Given the description of an element on the screen output the (x, y) to click on. 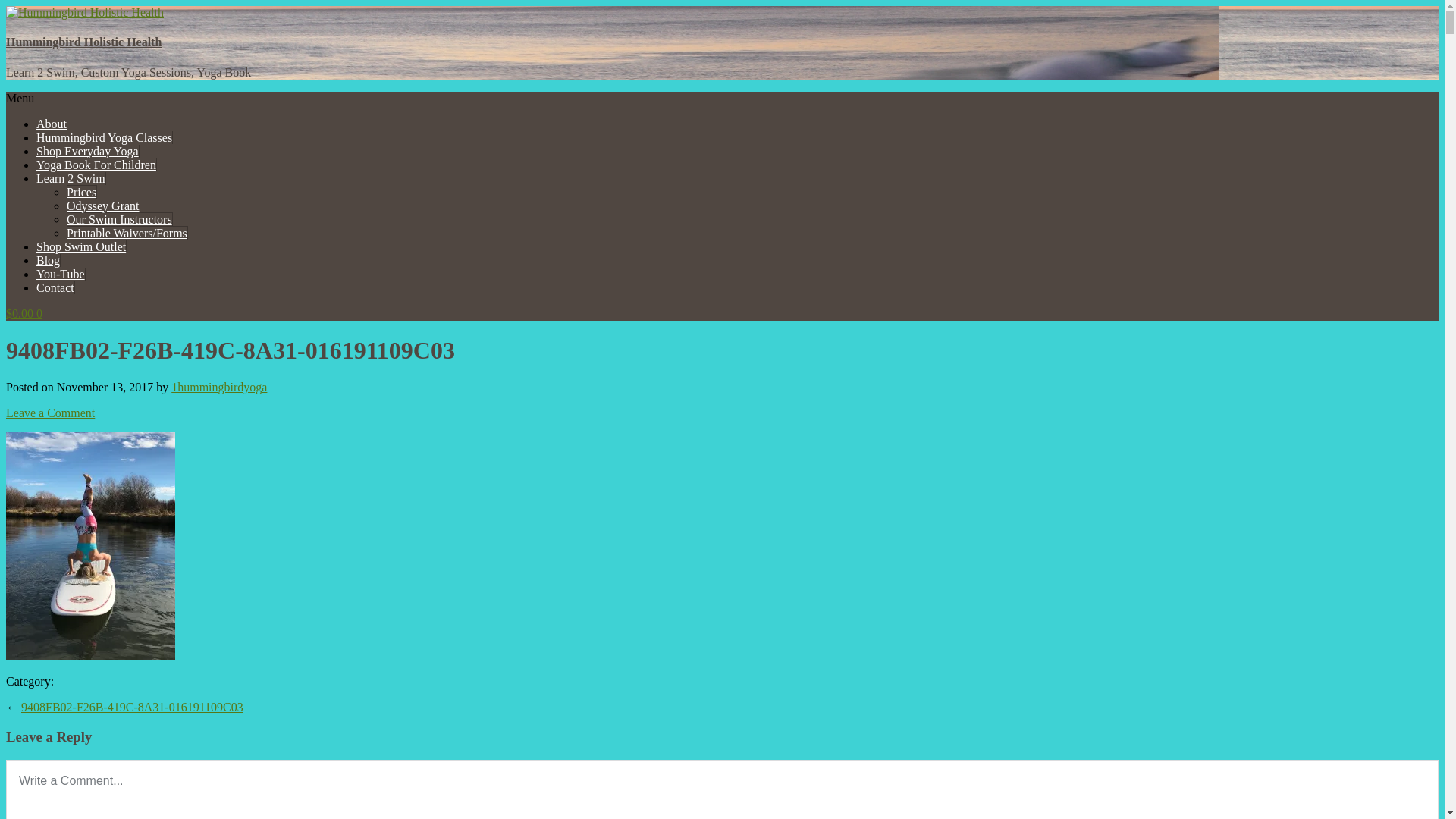
Hummingbird Holistic Health Element type: text (83, 41)
Yoga Book For Children Element type: text (96, 164)
Our Swim Instructors Element type: text (119, 218)
$0.00 0 Element type: text (24, 313)
1hummingbirdyoga Element type: text (218, 386)
Leave a Comment Element type: text (50, 412)
Contact Element type: text (55, 287)
Learn 2 Swim Element type: text (71, 178)
Shop Swim Outlet Element type: text (81, 246)
Printable Waivers/Forms Element type: text (127, 232)
Hummingbird Yoga Classes Element type: text (104, 137)
Prices Element type: text (81, 191)
Odyssey Grant Element type: text (103, 205)
About Element type: text (51, 123)
Blog Element type: text (48, 260)
You-Tube Element type: text (60, 273)
Shop Everyday Yoga Element type: text (87, 150)
9408FB02-F26B-419C-8A31-016191109C03 Element type: text (132, 706)
